Given the description of an element on the screen output the (x, y) to click on. 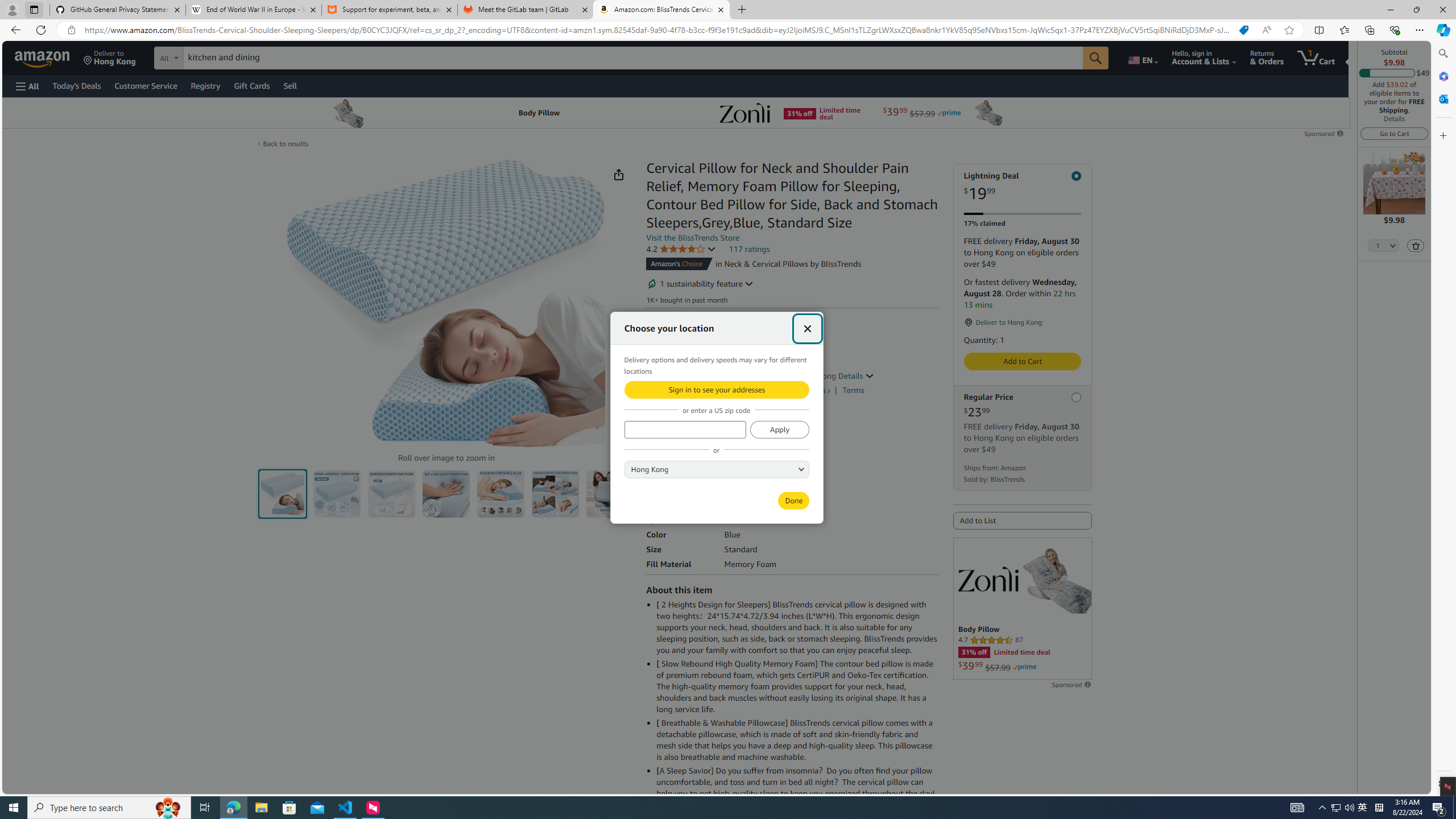
Delete (1415, 245)
or enter a US zip code (684, 429)
Learn more about Amazon pricing and savings (703, 361)
Gift Cards (251, 85)
Returns & Orders (1266, 57)
Done (793, 500)
AutomationID: GLUXCountryList (716, 468)
Search Amazon (633, 57)
Queen (718, 479)
